Given the description of an element on the screen output the (x, y) to click on. 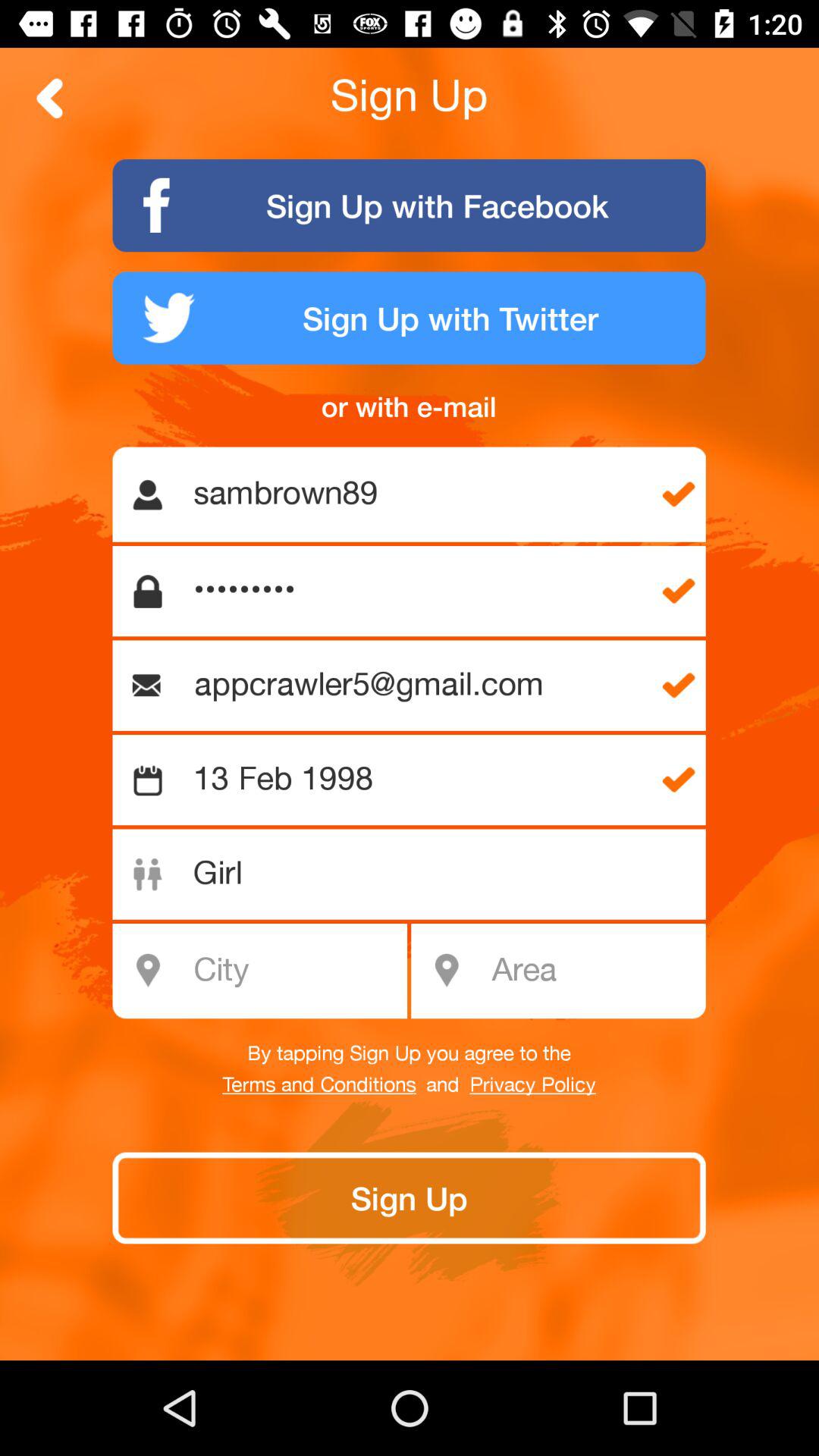
select the 13 feb 1998 icon (417, 779)
